Given the description of an element on the screen output the (x, y) to click on. 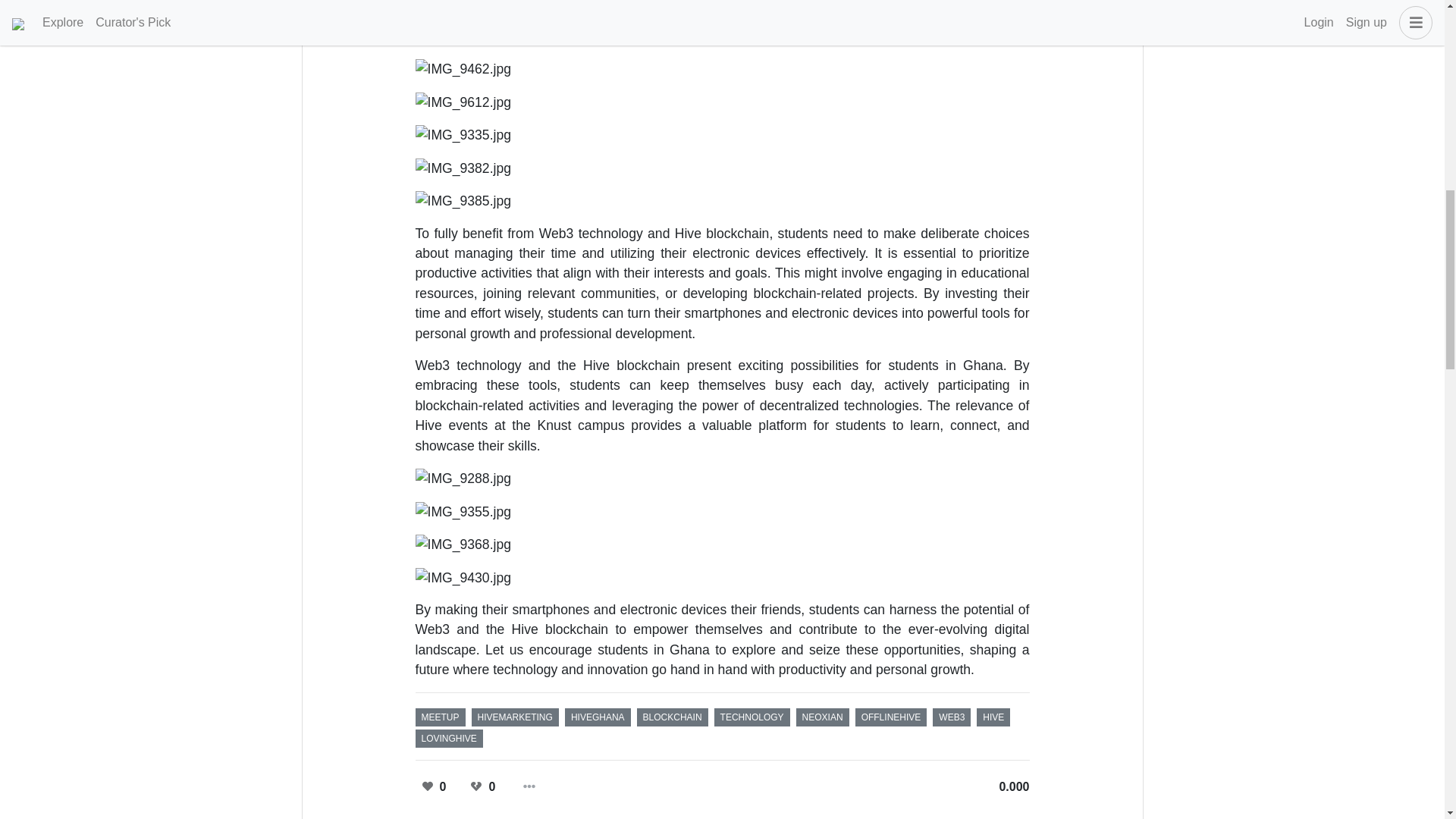
HIVEGHANA (597, 717)
BLOCKCHAIN (672, 717)
OFFLINEHIVE (891, 717)
HIVE (993, 717)
HIVEMARKETING (515, 717)
LOVINGHIVE (448, 738)
TECHNOLOGY (752, 717)
WEB3 (952, 717)
MEETUP (439, 717)
NEOXIAN (822, 717)
